Given the description of an element on the screen output the (x, y) to click on. 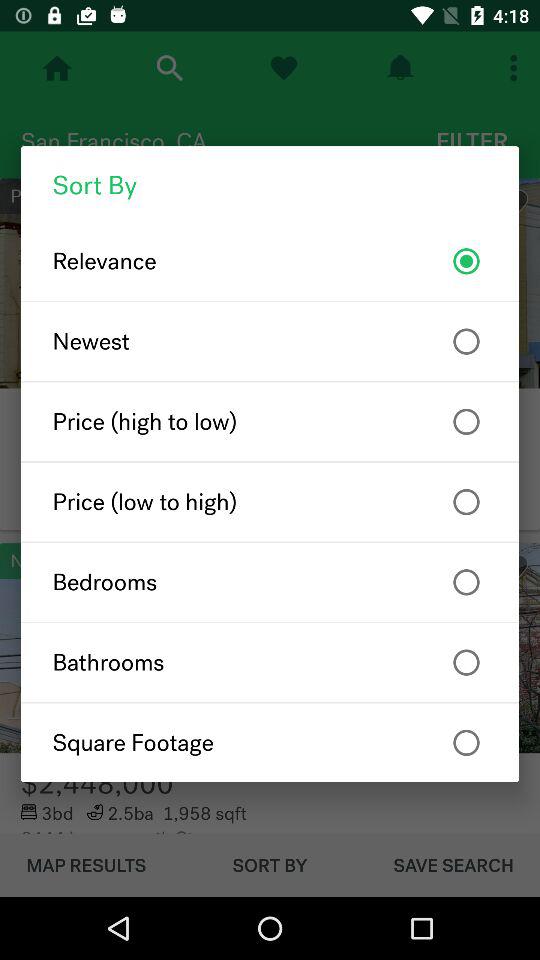
open bathrooms (270, 662)
